Given the description of an element on the screen output the (x, y) to click on. 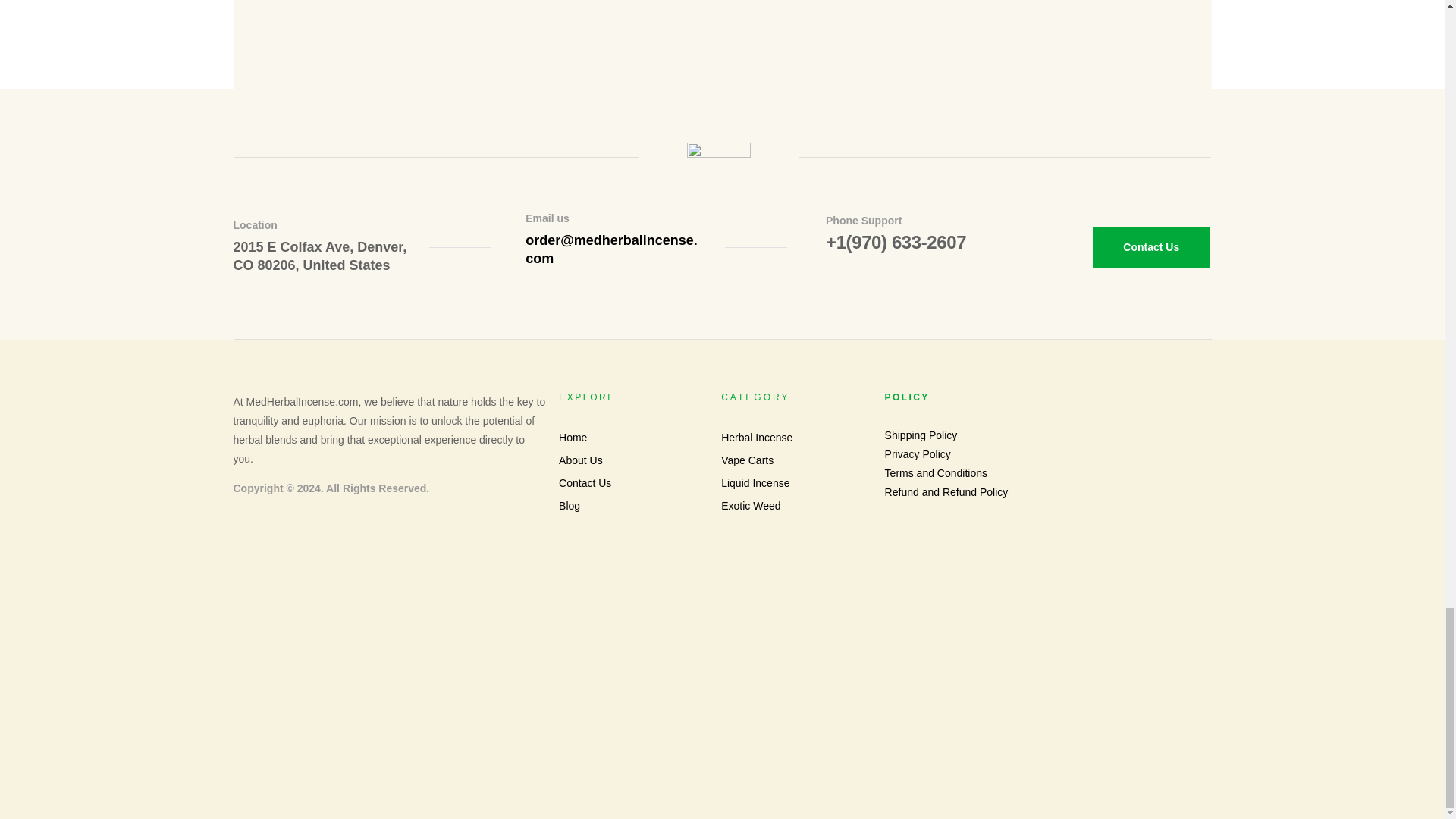
Herbal Incense (796, 437)
Contact Us (1151, 246)
Blog (634, 505)
Privacy Policy (1048, 454)
Vape Carts (796, 460)
About Us (634, 460)
Liquid Incense (796, 483)
Contact Us (634, 483)
Shipping Policy (1048, 435)
Terms and Conditions (1048, 473)
